Given the description of an element on the screen output the (x, y) to click on. 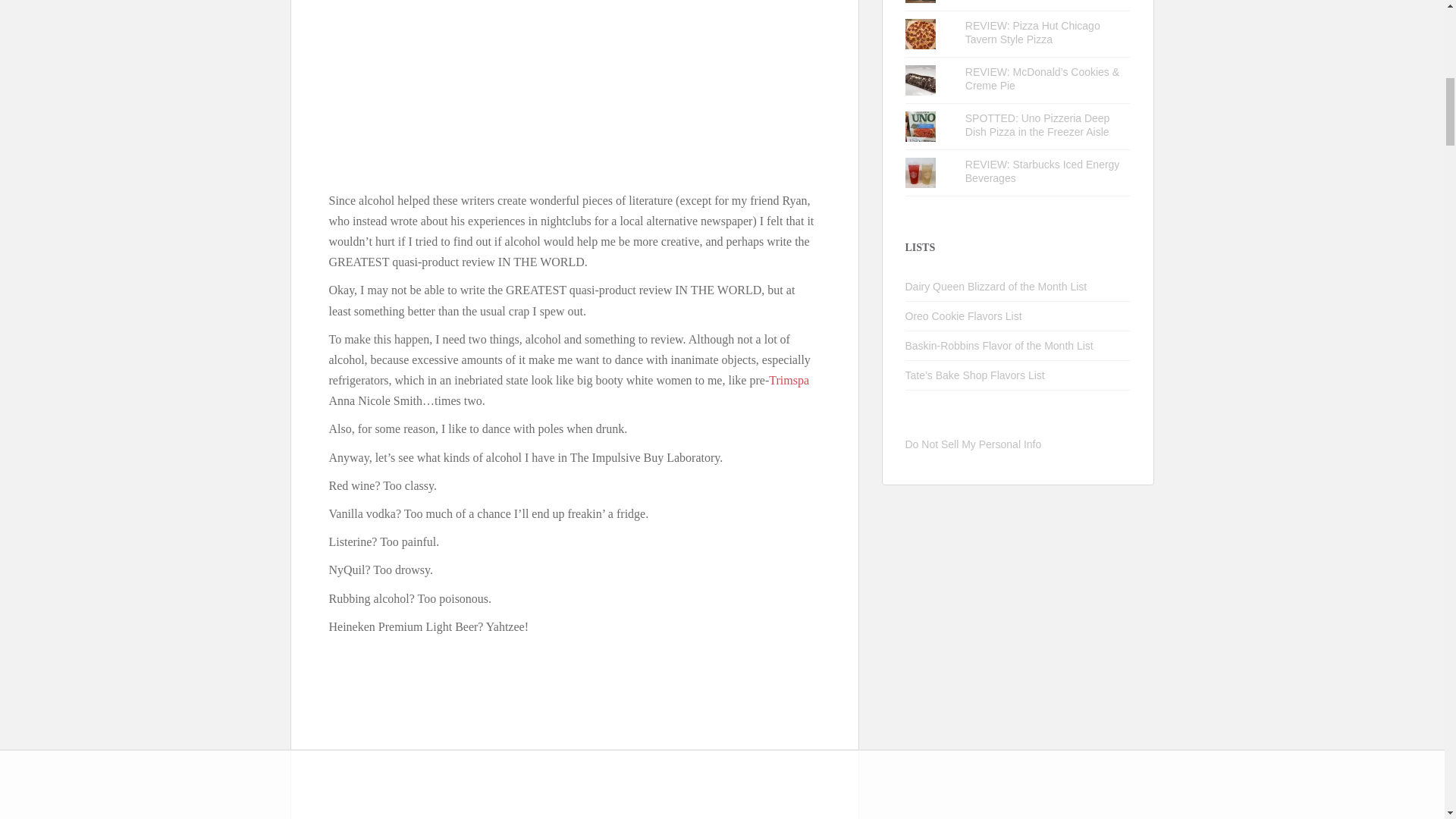
Trimspa (788, 379)
